Given the description of an element on the screen output the (x, y) to click on. 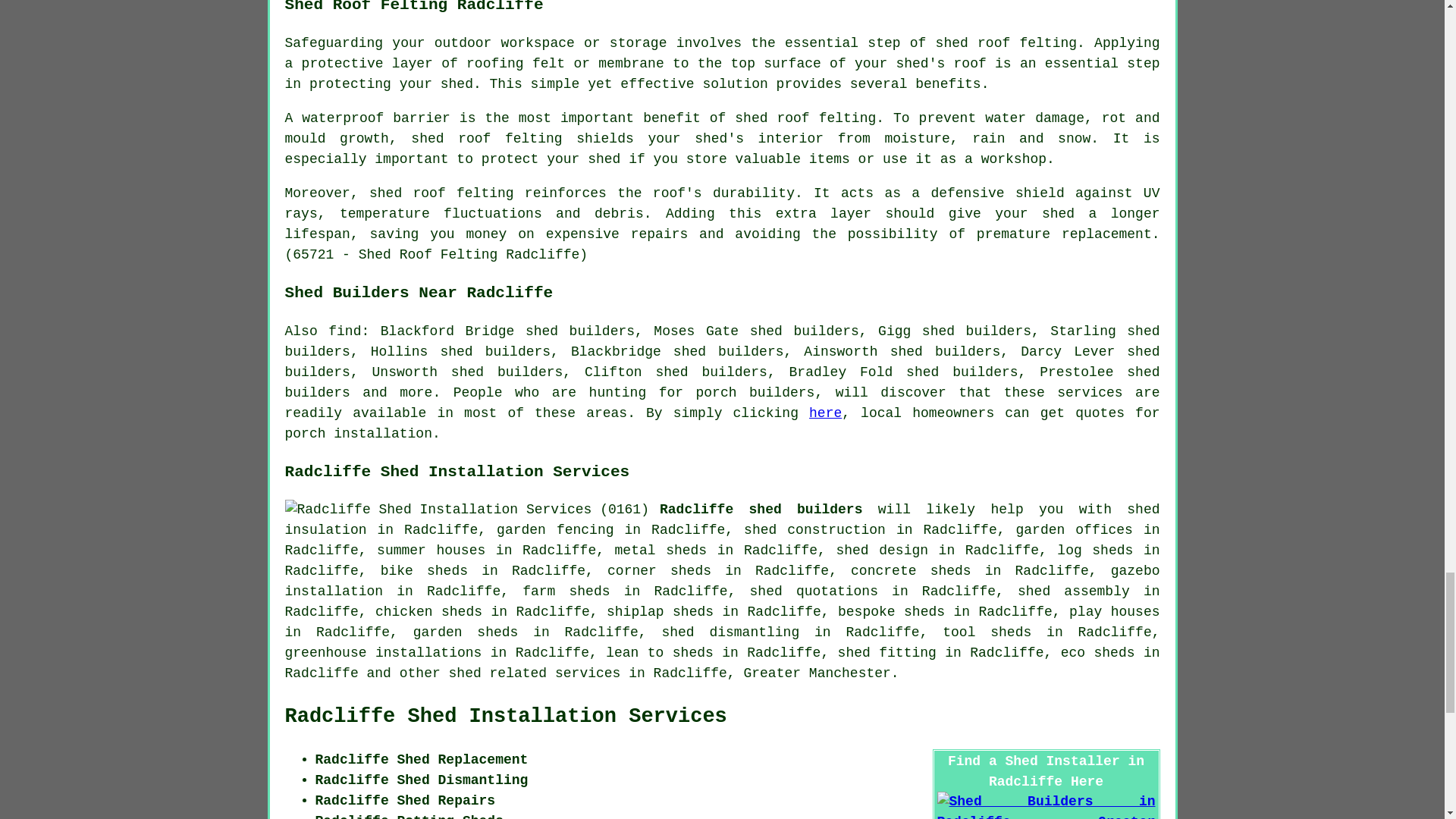
shed roof felting (441, 192)
